Given the description of an element on the screen output the (x, y) to click on. 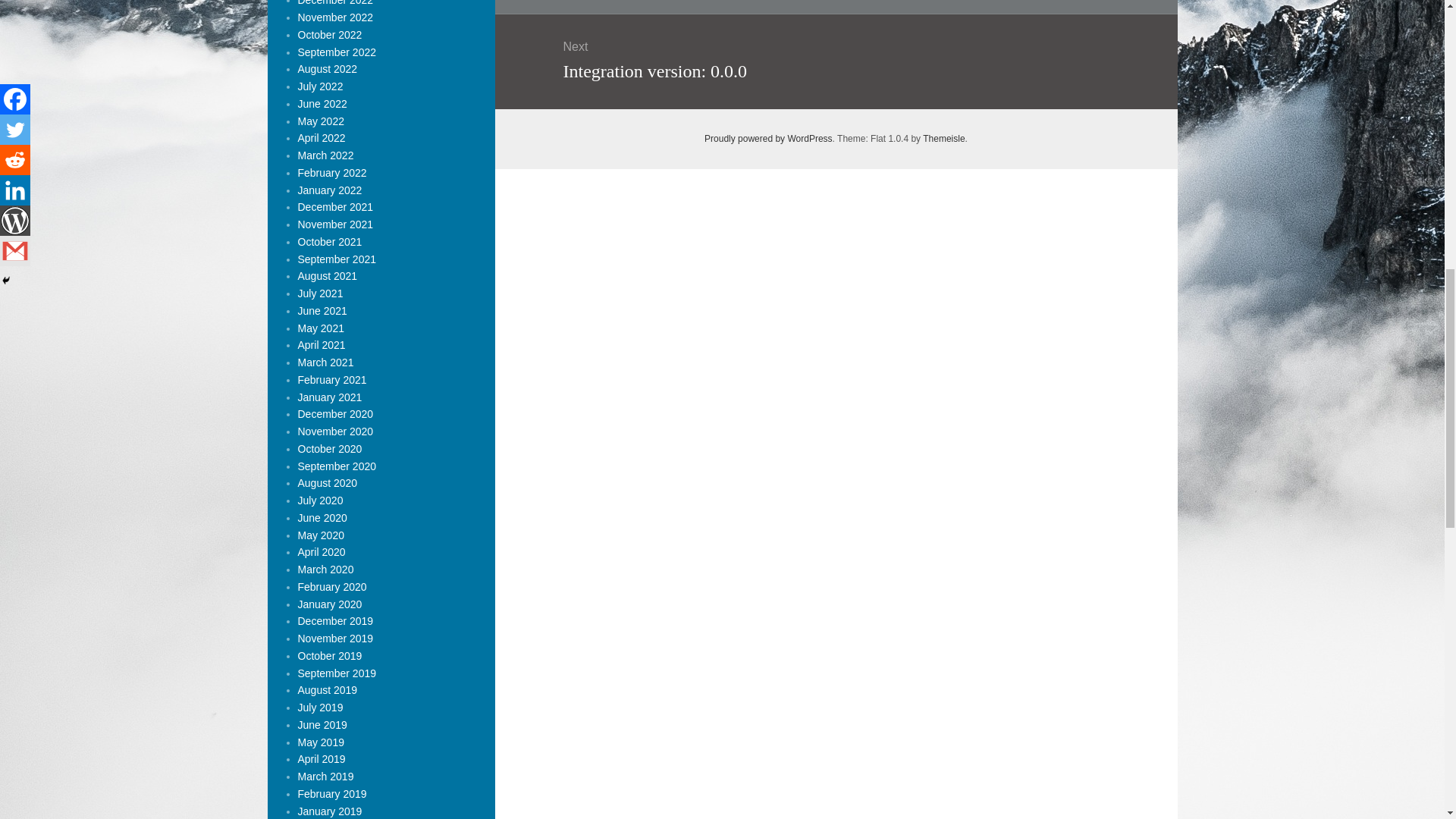
May 2022 (320, 121)
July 2022 (319, 86)
Flat WordPress Theme (943, 138)
August 2022 (326, 69)
September 2022 (336, 51)
June 2022 (321, 103)
Semantic Personal Publishing Platform (768, 138)
November 2022 (334, 17)
April 2022 (321, 137)
December 2022 (334, 2)
